Given the description of an element on the screen output the (x, y) to click on. 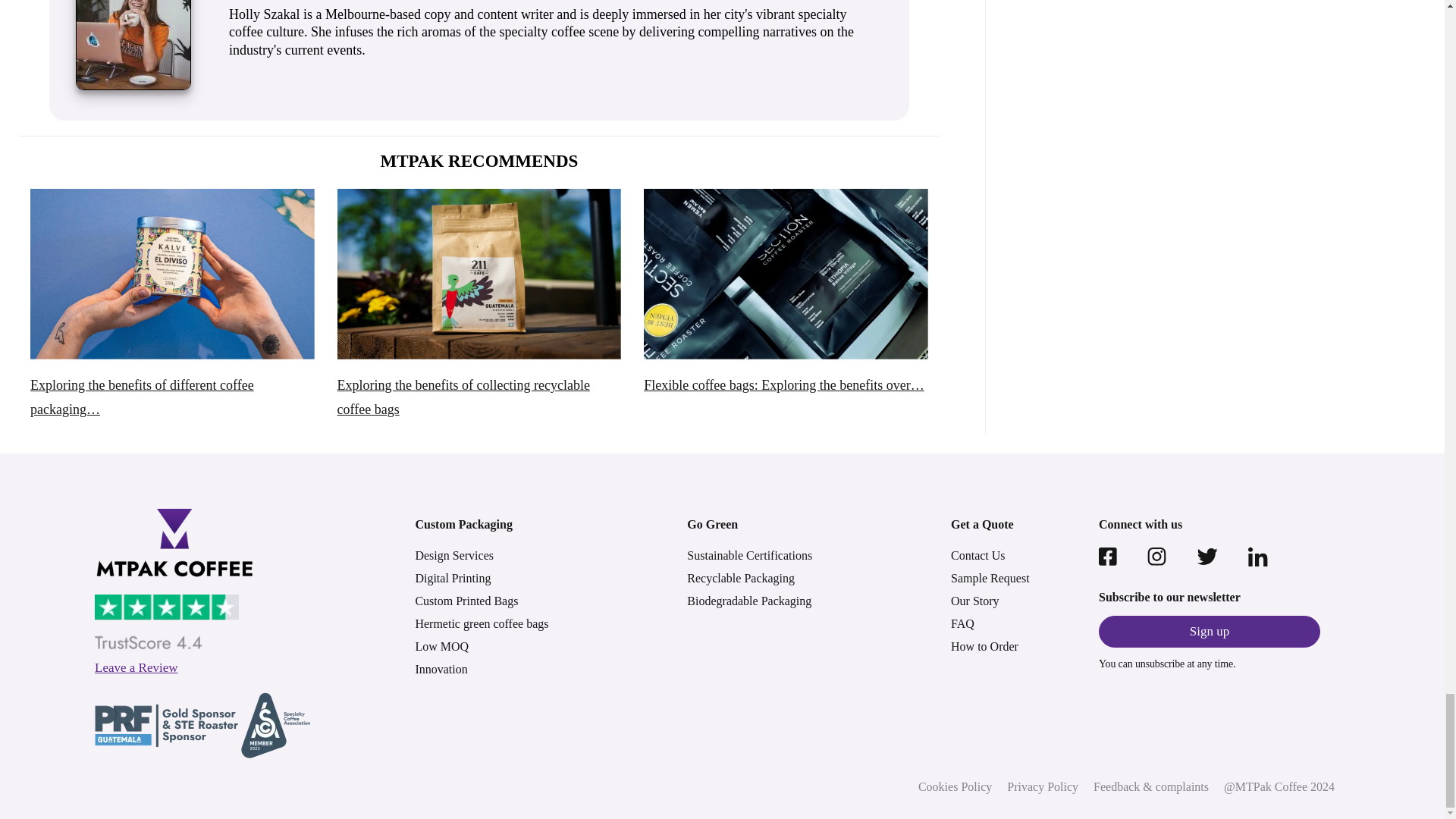
Exploring the benefits of collecting recyclable coffee bags (479, 274)
